Given the description of an element on the screen output the (x, y) to click on. 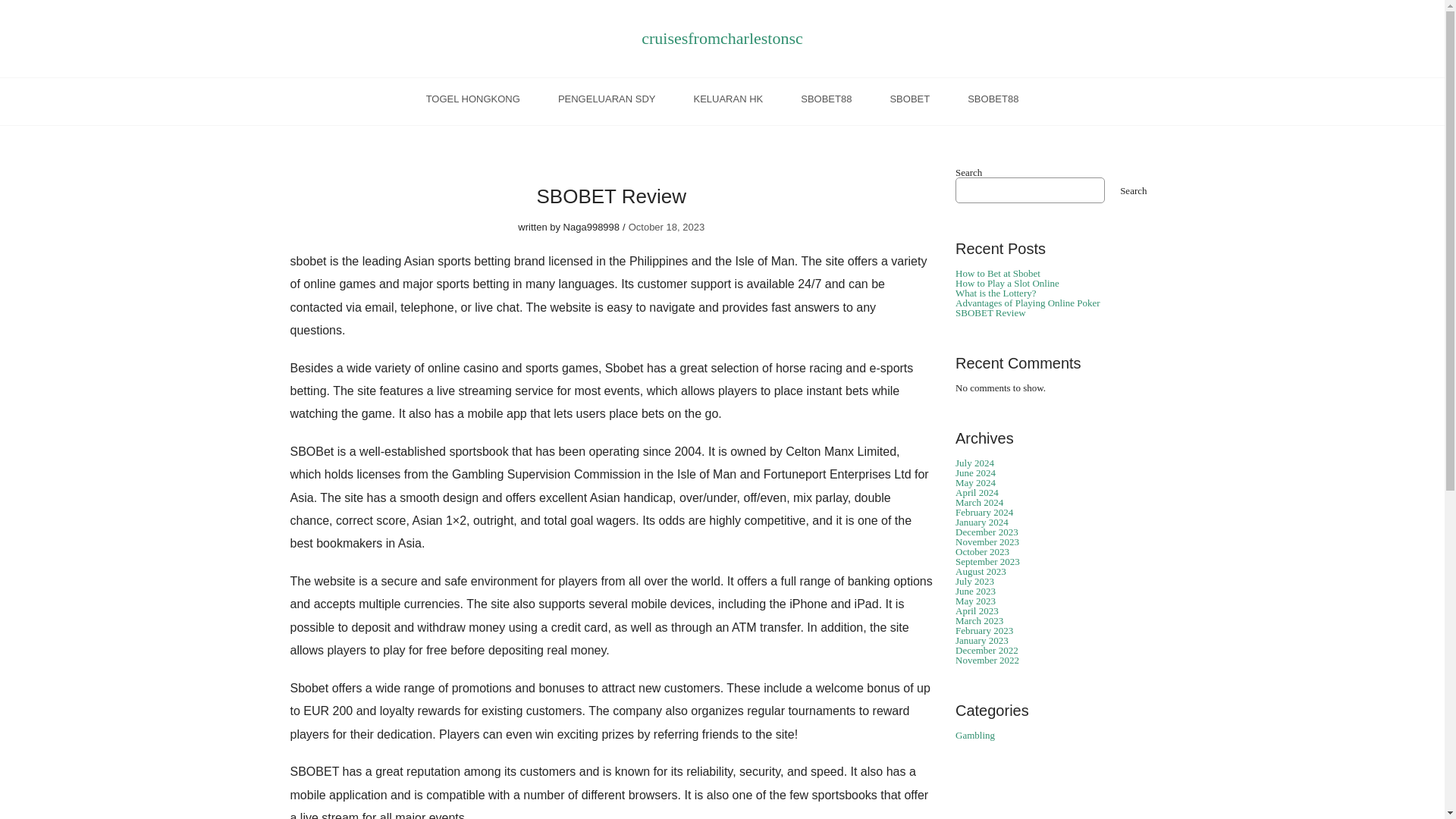
July 2023 (974, 581)
May 2024 (975, 482)
March 2024 (979, 501)
February 2024 (984, 511)
TOGEL HONGKONG (472, 101)
June 2023 (975, 591)
How to Bet at Sbobet (998, 273)
December 2023 (986, 531)
October 18, 2023 (666, 226)
September 2023 (987, 561)
SBOBET (909, 101)
Search (1133, 190)
SBOBET88 (992, 101)
cruisesfromcharlestonsc (722, 38)
June 2024 (975, 472)
